Given the description of an element on the screen output the (x, y) to click on. 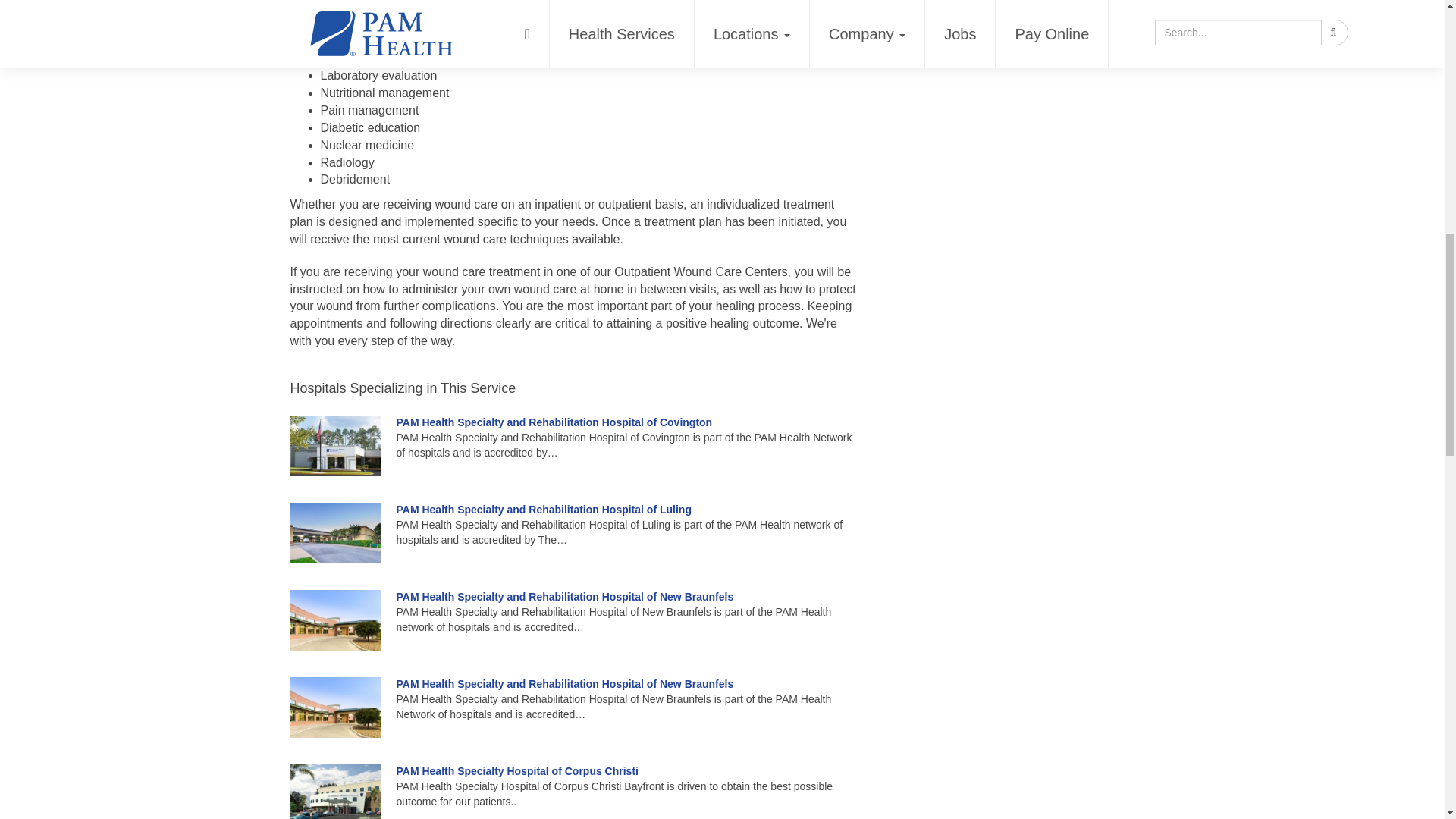
PAM Health Specialty Hospital of Corpus Christi (516, 770)
PAM Health Specialty and Rehabilitation Hospital of Luling (543, 509)
